Given the description of an element on the screen output the (x, y) to click on. 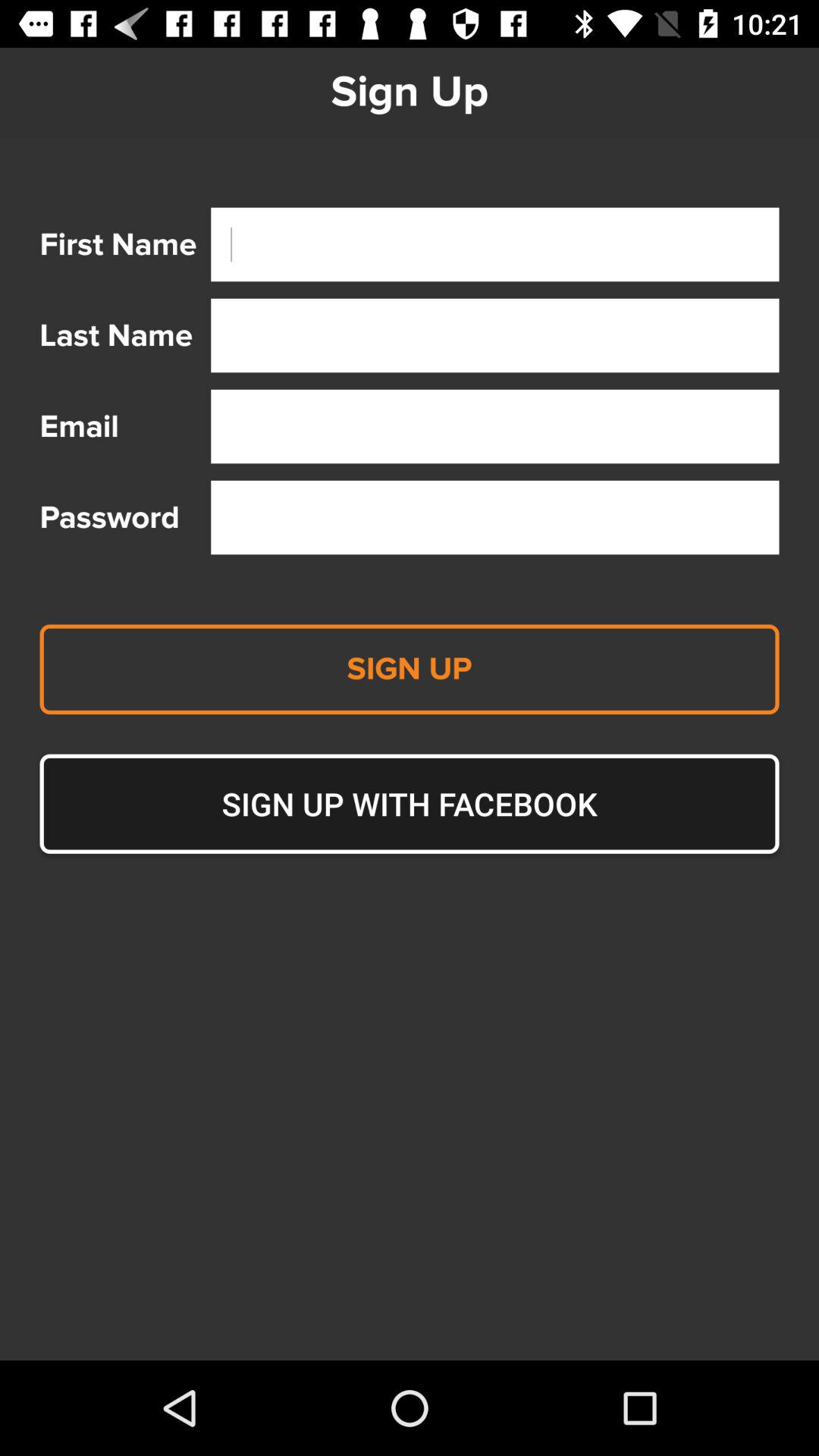
first name text field (495, 244)
